Given the description of an element on the screen output the (x, y) to click on. 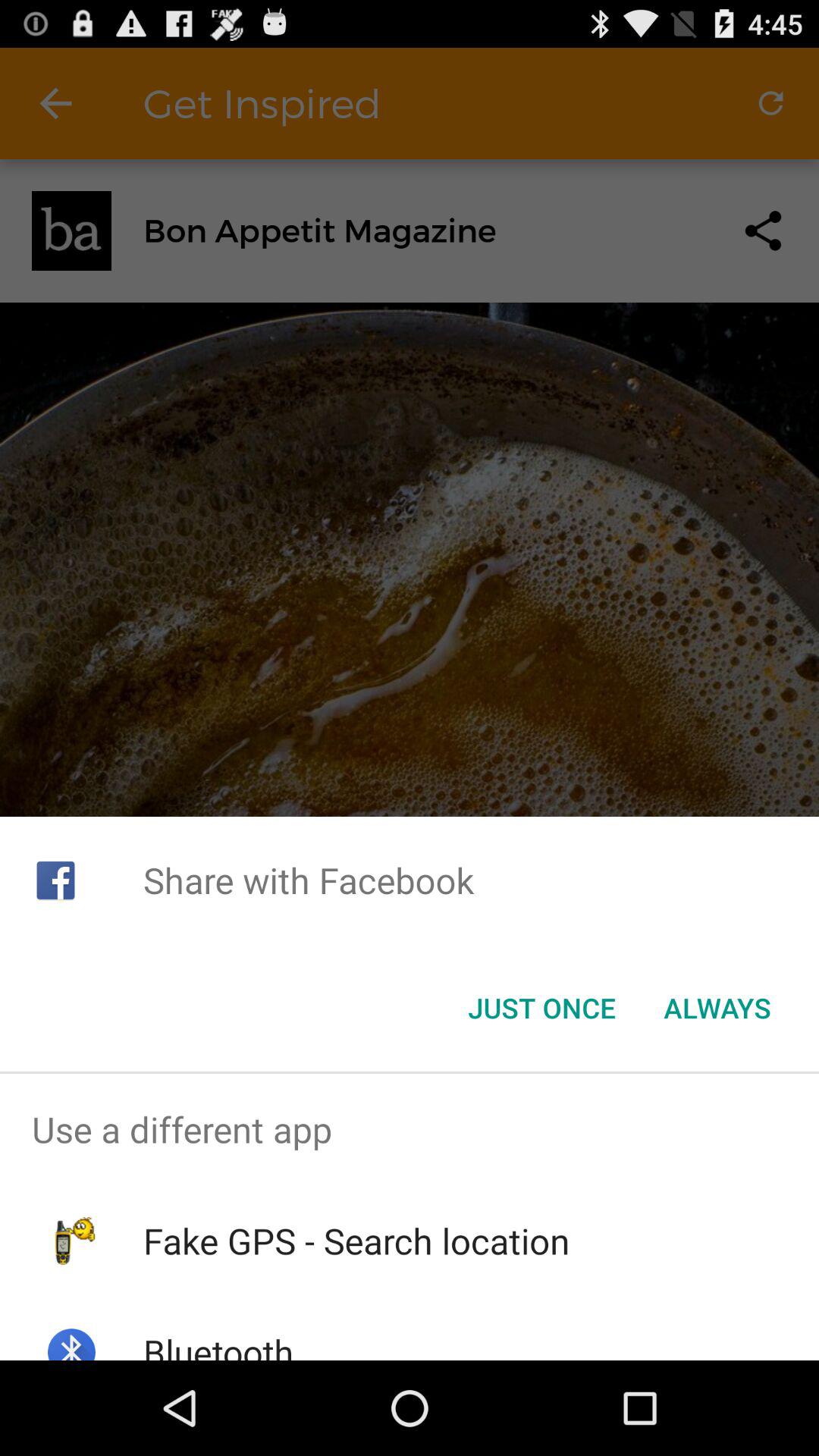
select the item next to always (541, 1007)
